Given the description of an element on the screen output the (x, y) to click on. 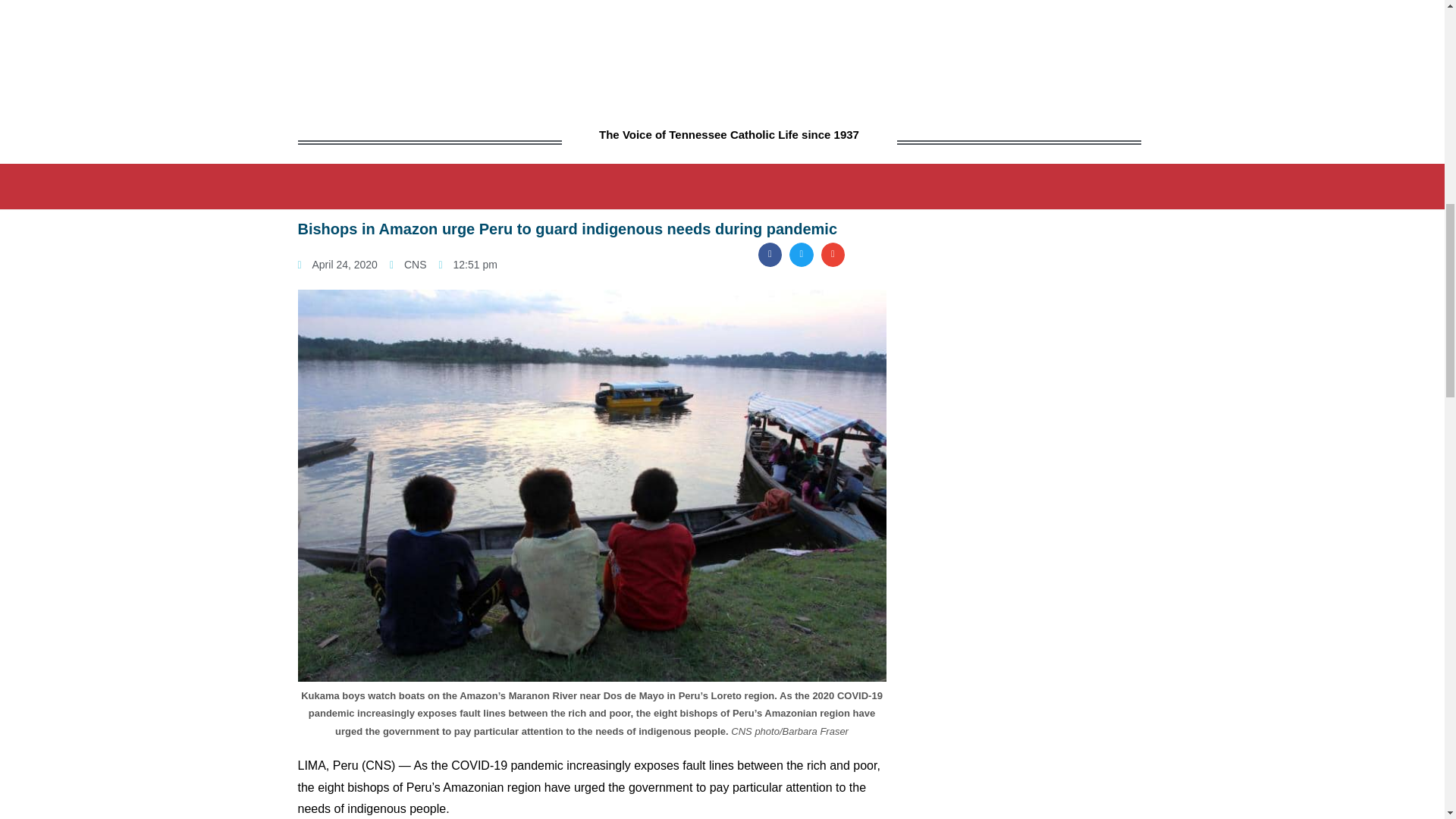
CNS (408, 264)
April 24, 2020 (337, 264)
